Given the description of an element on the screen output the (x, y) to click on. 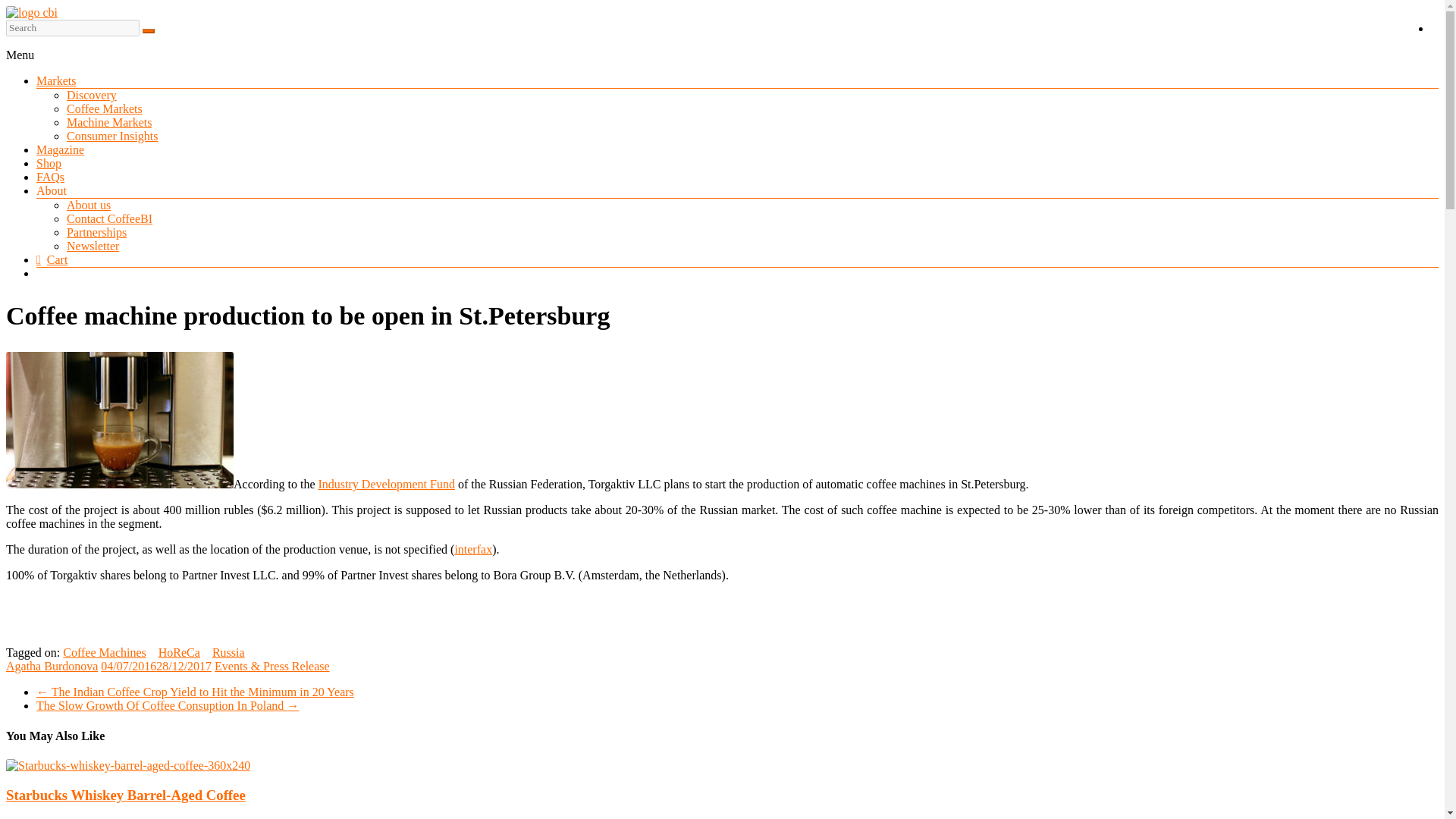
Consumer Insights (111, 135)
Markets (55, 80)
interfax (473, 549)
Contact CoffeeBI (109, 218)
08:30 (140, 818)
Discovery (91, 94)
Starbucks Whiskey Barrel-Aged Coffee (125, 795)
Magazine (60, 149)
Cart (51, 259)
08:45 (155, 666)
Coffee machine production to be open in St.Petersburg 1 (118, 420)
Russia (228, 652)
Starbucks Whiskey Barrel-Aged Coffee (127, 766)
About us (88, 205)
Starbucks Whiskey Barrel-Aged Coffee (127, 765)
